Given the description of an element on the screen output the (x, y) to click on. 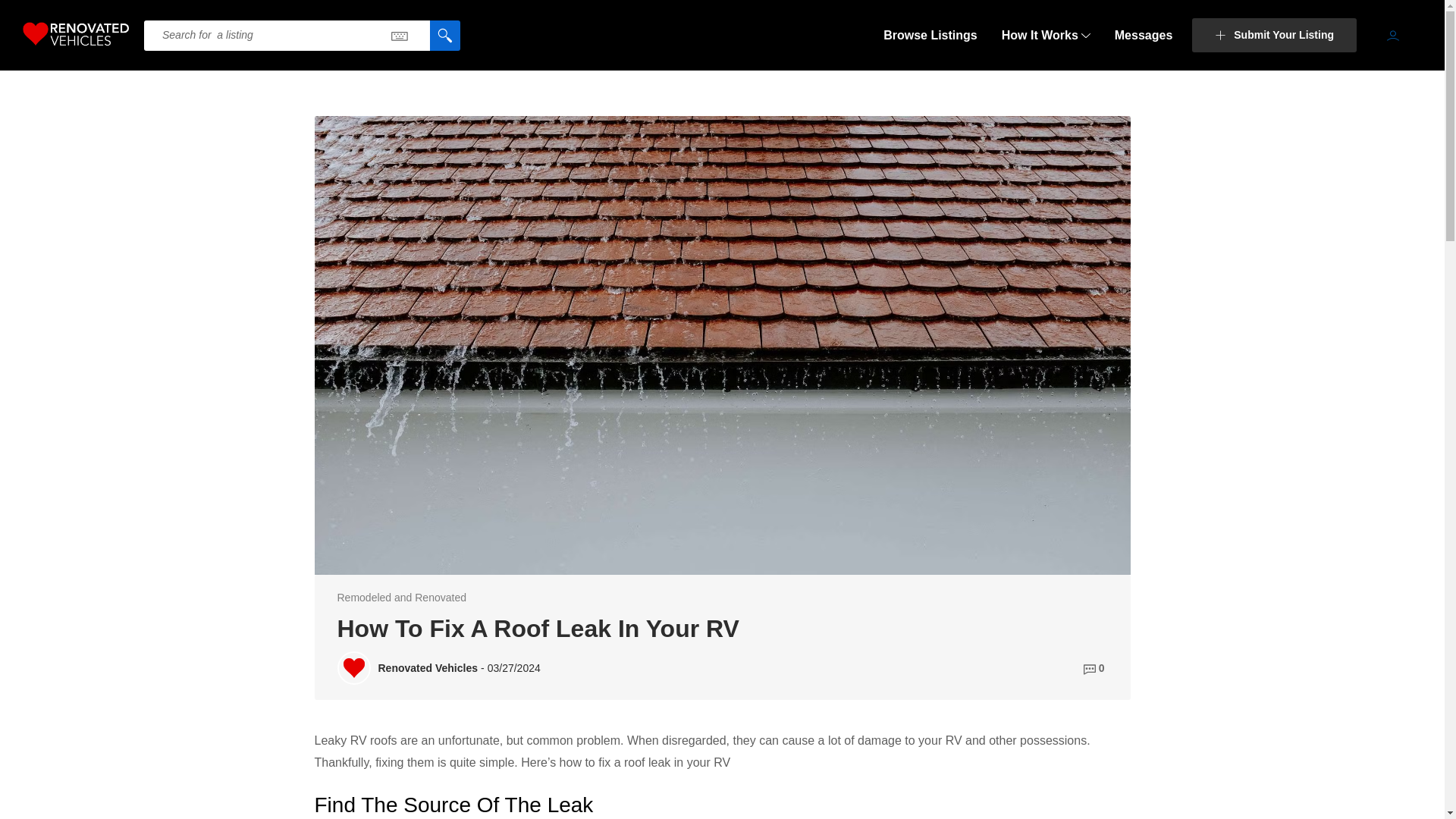
Messages (1144, 34)
Submit Your Listing (1274, 35)
Leave a Comment (1095, 668)
Browse Listings (929, 34)
0 (1095, 668)
Login (1393, 34)
Remodeled and Renovated (400, 597)
How It Works (1045, 34)
